Given the description of an element on the screen output the (x, y) to click on. 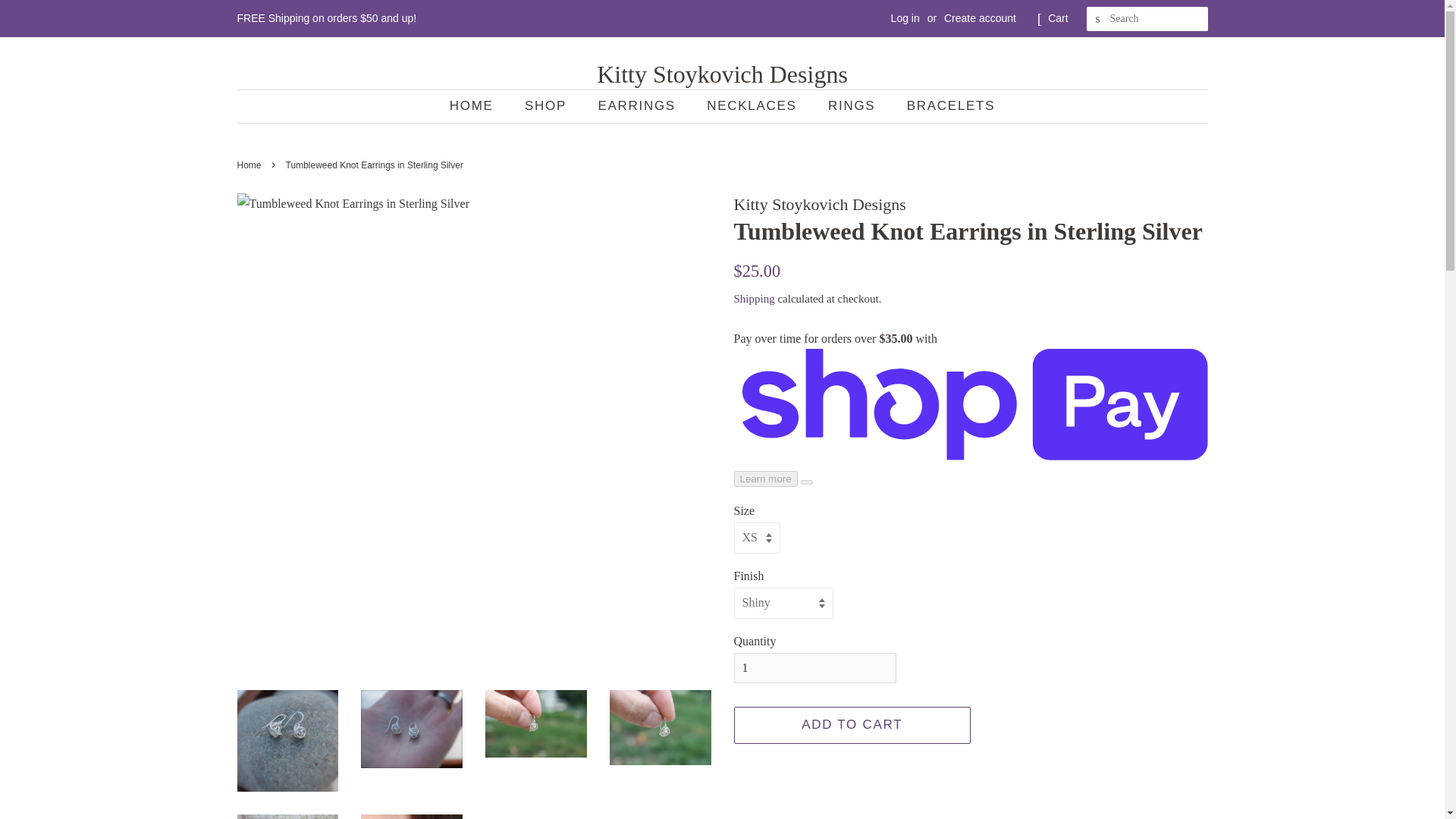
Cart (1057, 18)
Back to the frontpage (249, 164)
HOME (478, 106)
1 (814, 667)
NECKLACES (752, 106)
BRACELETS (944, 106)
EARRINGS (638, 106)
Log in (905, 18)
RINGS (852, 106)
SHOP (546, 106)
